Given the description of an element on the screen output the (x, y) to click on. 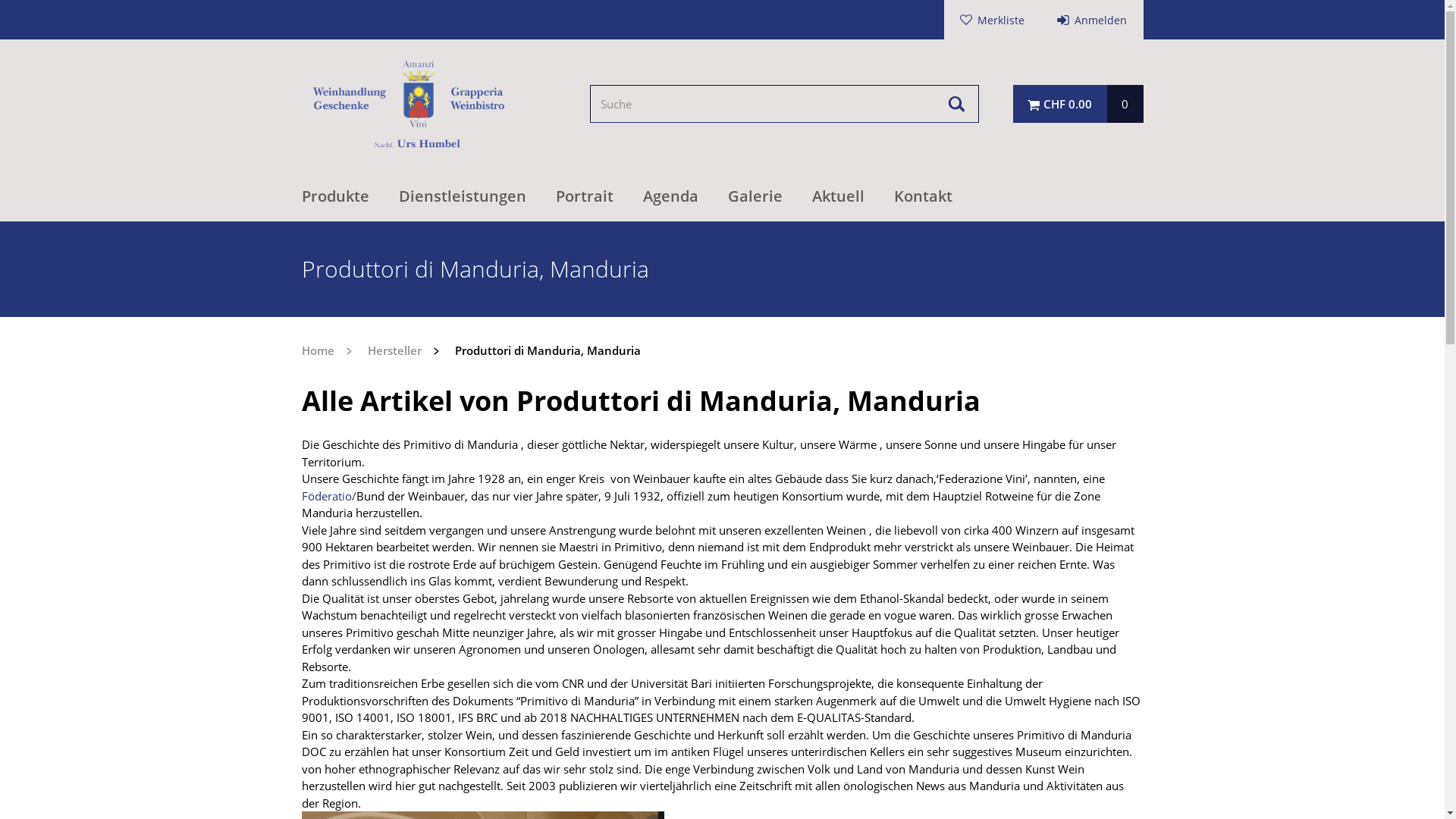
Produkte Element type: text (349, 196)
CHF 0.00 Element type: text (1060, 103)
Hersteller Element type: text (378, 349)
Dienstleistungen Element type: text (476, 196)
Aktuell Element type: text (852, 196)
Galerie Element type: text (770, 196)
Merkliste Element type: text (992, 19)
0 Element type: text (1125, 103)
Kontakt Element type: text (922, 196)
Produttori di Manduria, Manduria Element type: text (532, 349)
Home Element type: text (317, 349)
Agenda Element type: text (685, 196)
Anmelden Element type: text (1092, 19)
Portrait Element type: text (598, 196)
